Given the description of an element on the screen output the (x, y) to click on. 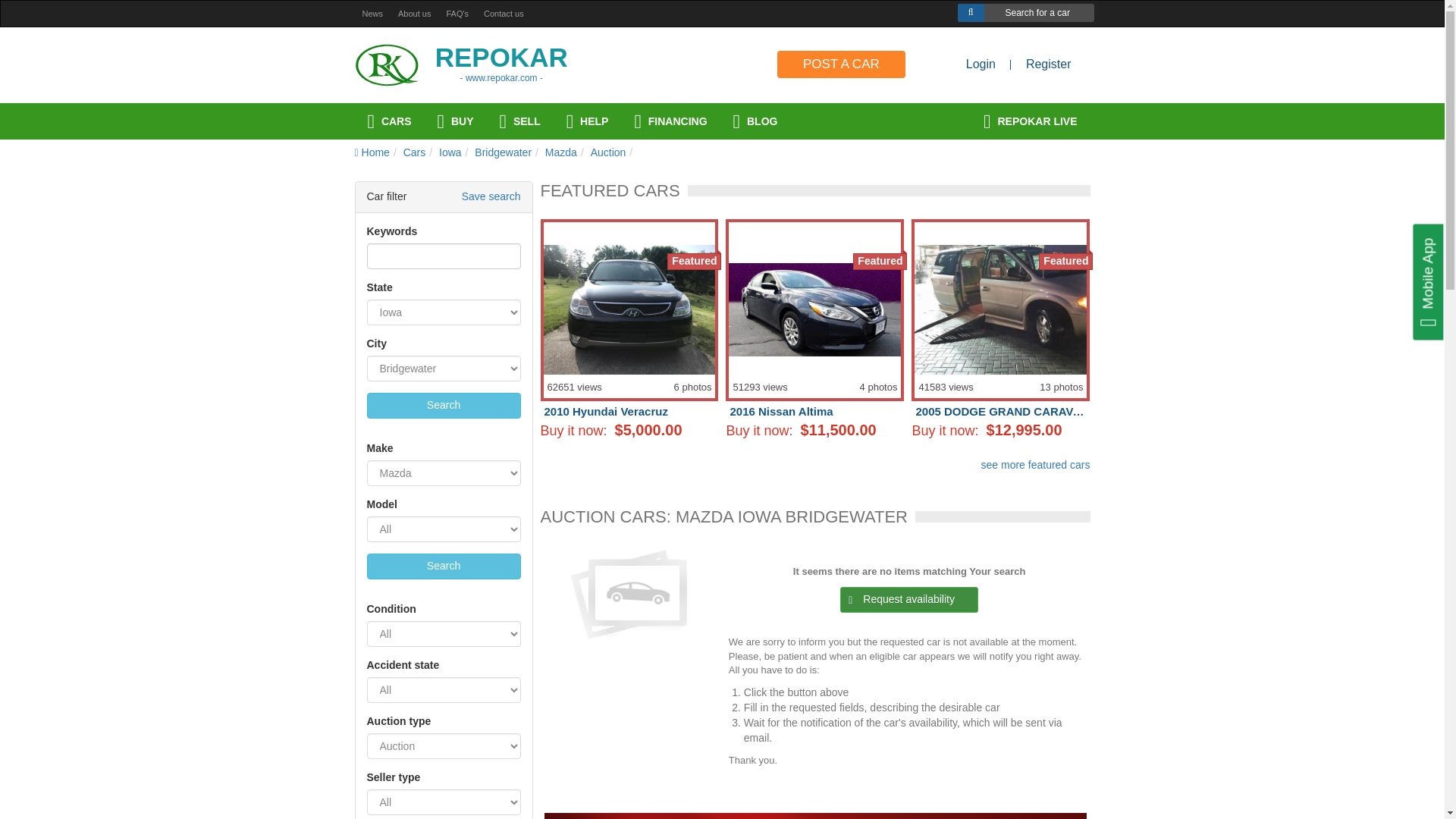
CARS (390, 120)
Login (980, 64)
REPOKAR LIVE (1030, 120)
Auction (608, 151)
- www.repokar.com - (501, 77)
BUY (455, 120)
Cars (414, 151)
HELP (587, 120)
About us (414, 13)
Save search (491, 196)
